Given the description of an element on the screen output the (x, y) to click on. 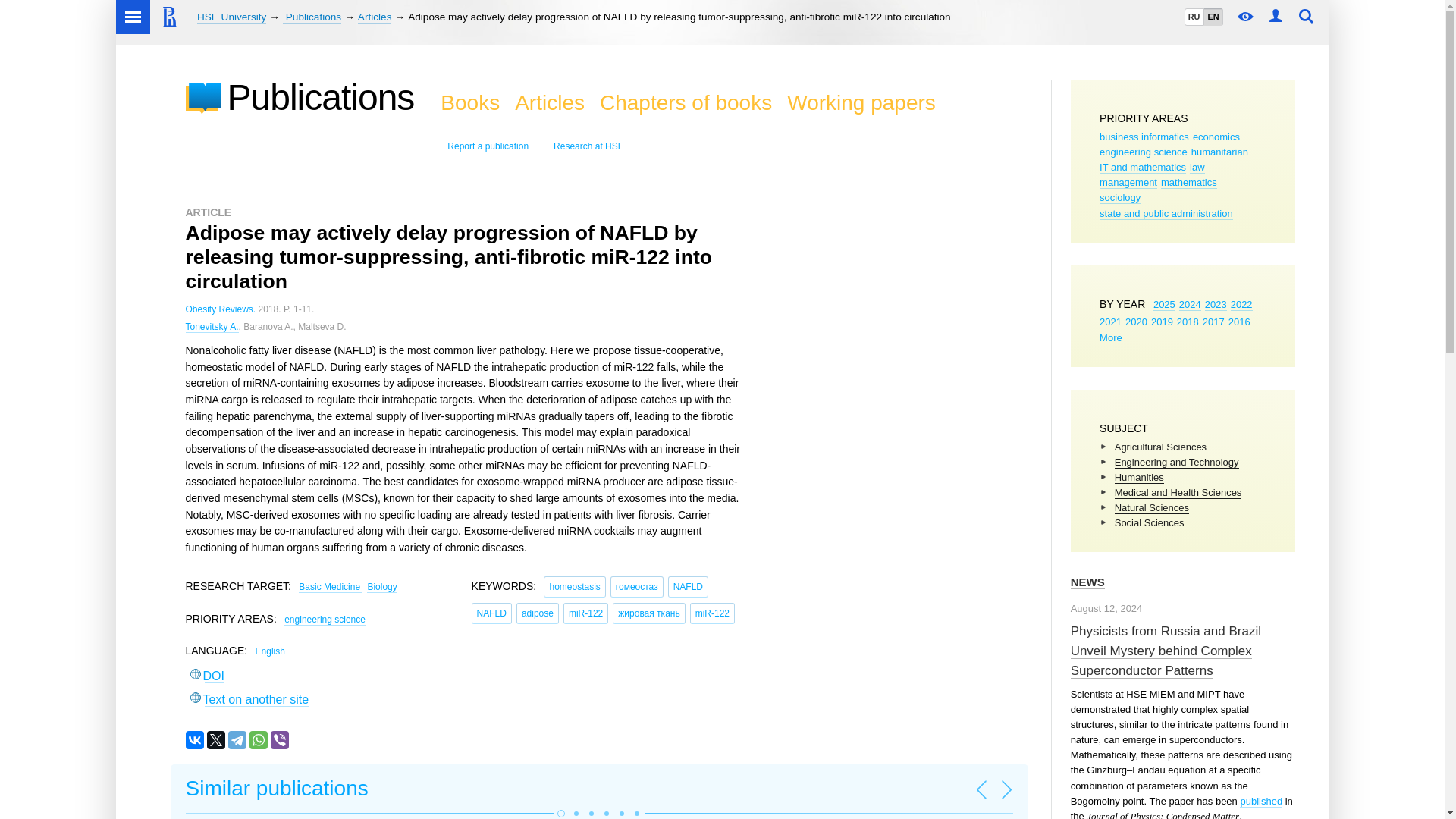
Publications (311, 17)
2019 (1162, 322)
engineering science (1143, 152)
humanitarian (1219, 152)
2017 (1213, 322)
2025 (1163, 304)
HSE University (231, 17)
mathematics (1188, 182)
2016 (1239, 322)
2023 (1216, 304)
